Given the description of an element on the screen output the (x, y) to click on. 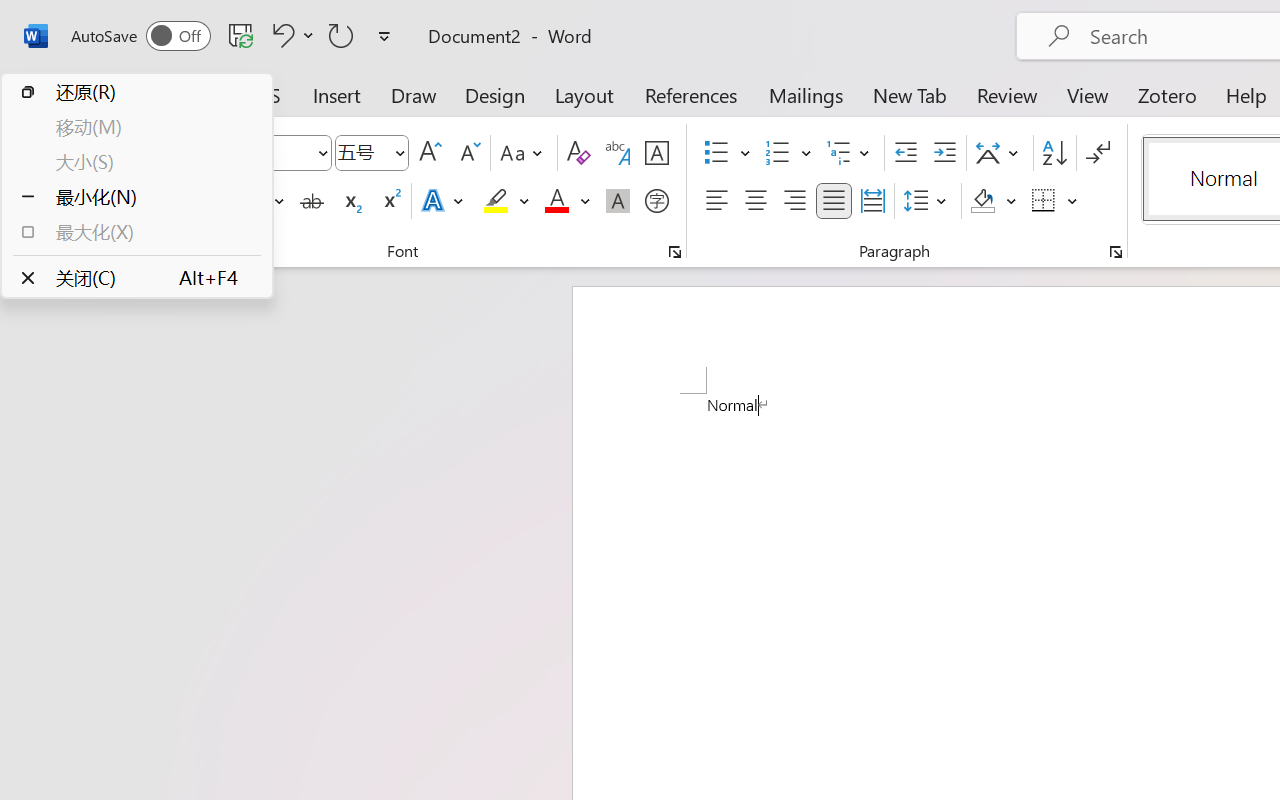
Phonetic Guide... (618, 153)
Paste (60, 151)
Save (241, 35)
Insert (337, 94)
Italic (212, 201)
Superscript (390, 201)
Subscript (350, 201)
Line and Paragraph Spacing (927, 201)
Font Size (362, 152)
Office Clipboard... (131, 252)
Character Shading (618, 201)
Asian Layout (1000, 153)
AutoSave (140, 35)
Strikethrough (312, 201)
Borders (1044, 201)
